Given the description of an element on the screen output the (x, y) to click on. 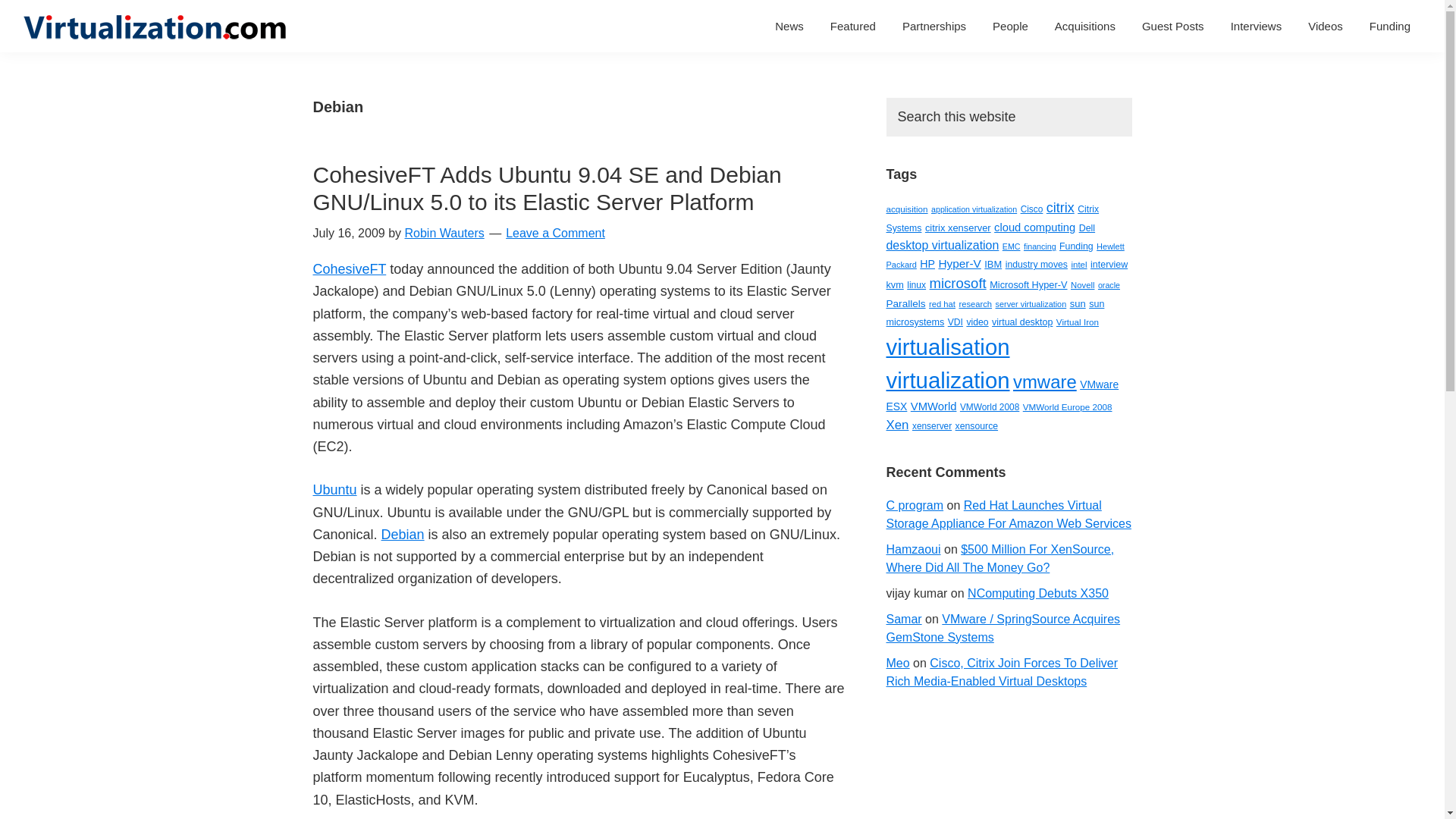
Debian (403, 534)
Videos (1325, 25)
Robin Wauters (443, 232)
Featured (852, 25)
Partnerships (933, 25)
Funding (1390, 25)
News (788, 25)
Ubuntu (334, 489)
People (1010, 25)
Leave a Comment (555, 232)
Acquisitions (1084, 25)
CohesiveFT (349, 268)
Guest Posts (1173, 25)
